Given the description of an element on the screen output the (x, y) to click on. 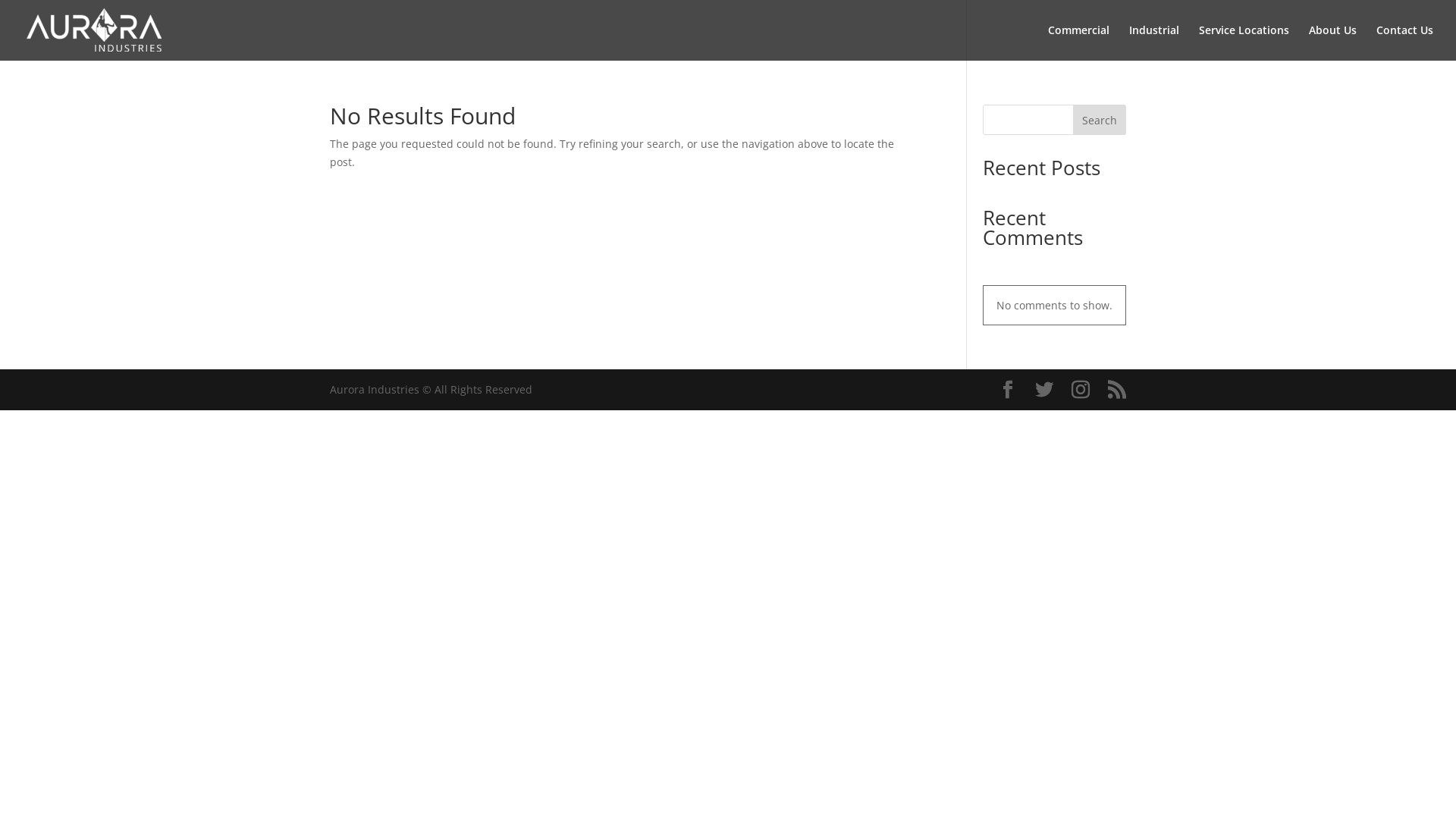
Contact Us Element type: text (1404, 42)
Search Element type: text (1099, 119)
Industrial Element type: text (1154, 42)
Service Locations Element type: text (1243, 42)
About Us Element type: text (1332, 42)
Commercial Element type: text (1078, 42)
